Given the description of an element on the screen output the (x, y) to click on. 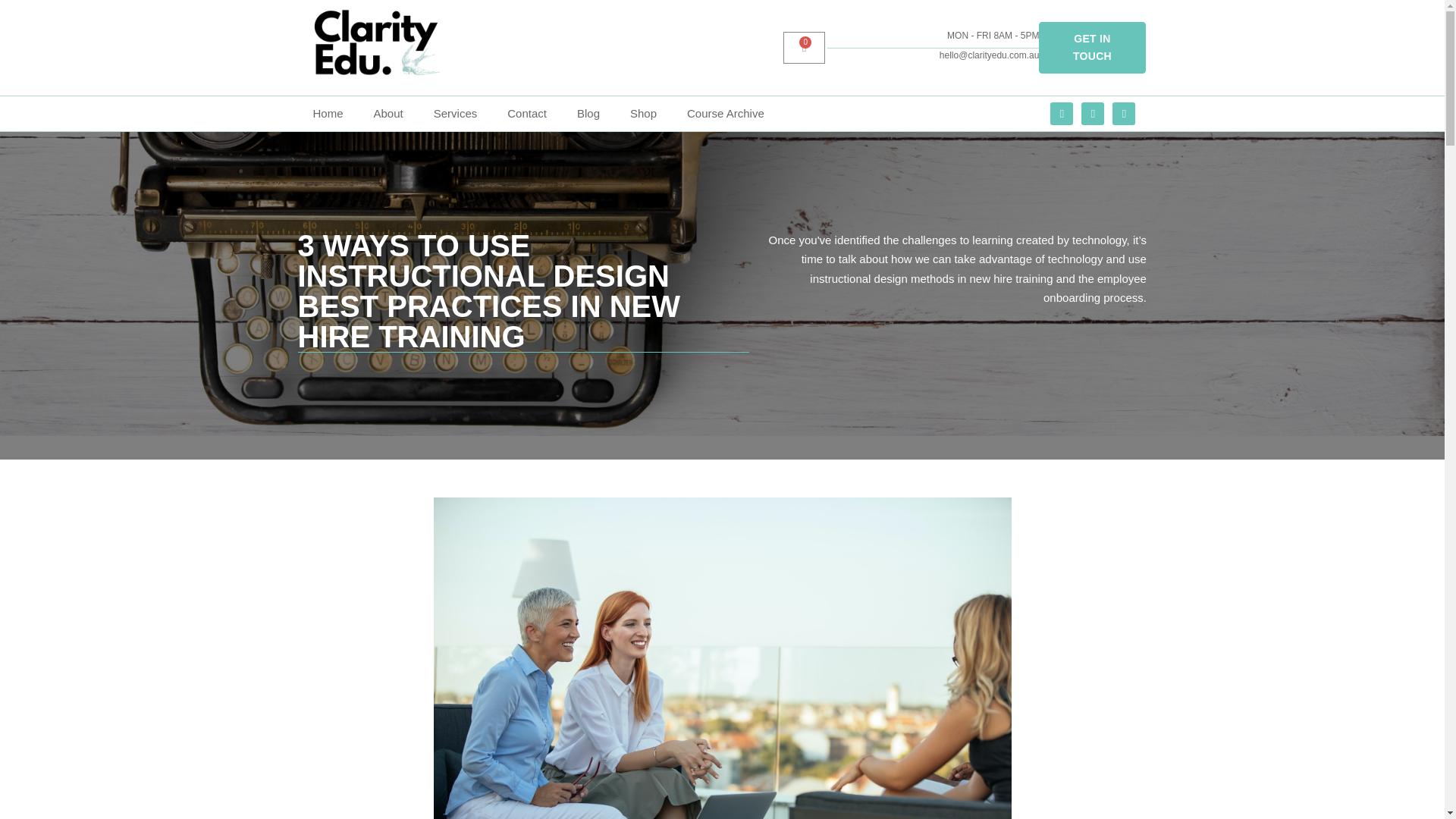
Contact (527, 113)
Course Archive (724, 113)
Services (456, 113)
Blog (588, 113)
Skip to content (15, 31)
Shop (642, 113)
About (388, 113)
Home (327, 113)
GET IN TOUCH (1091, 47)
